Given the description of an element on the screen output the (x, y) to click on. 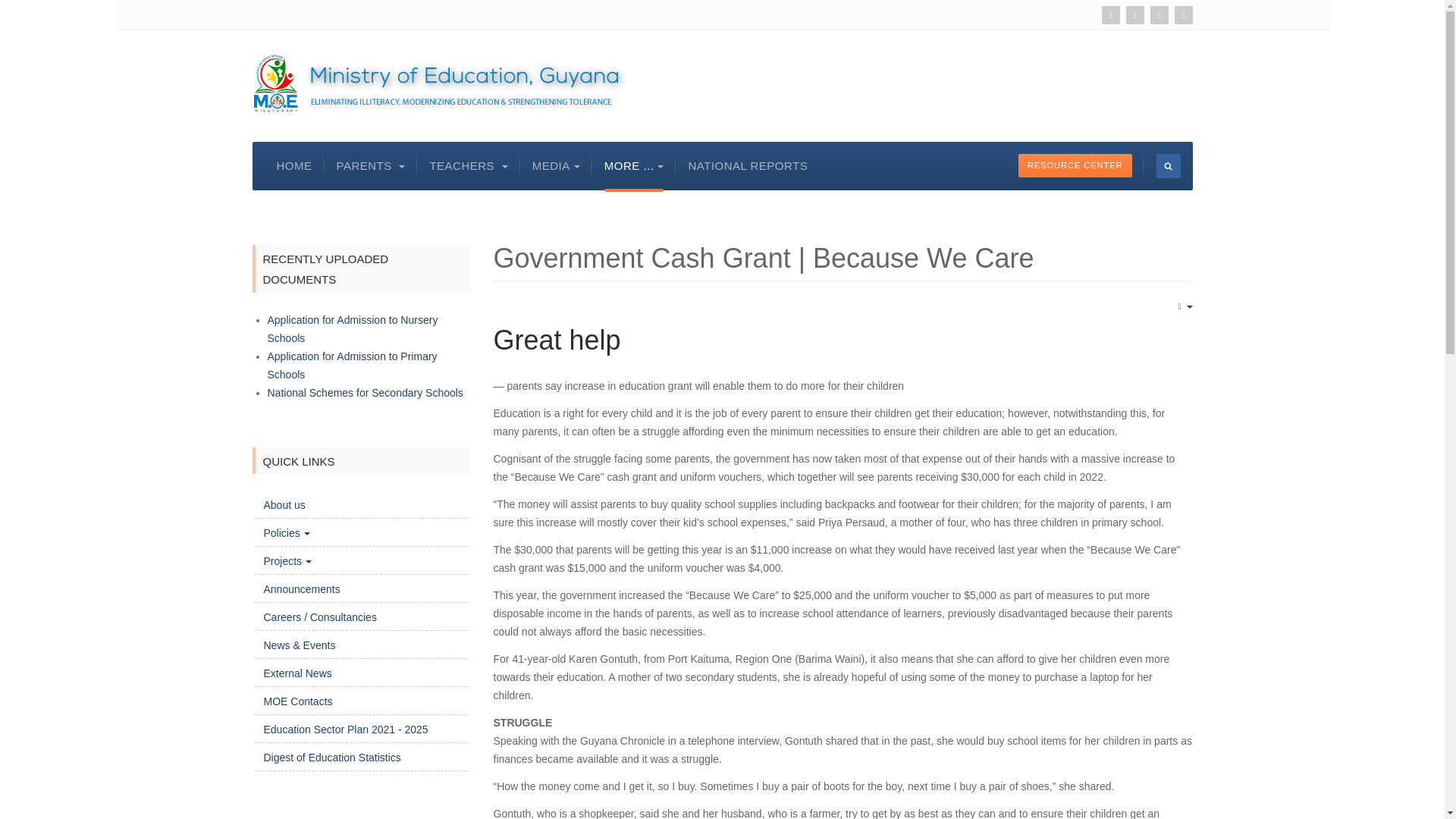
Twitter (1133, 14)
Document Section (1074, 165)
Ministry of Education, Guyana (438, 83)
Great help (556, 339)
Instagram (1182, 14)
Youtube (1109, 14)
Facebook (1158, 14)
